Given the description of an element on the screen output the (x, y) to click on. 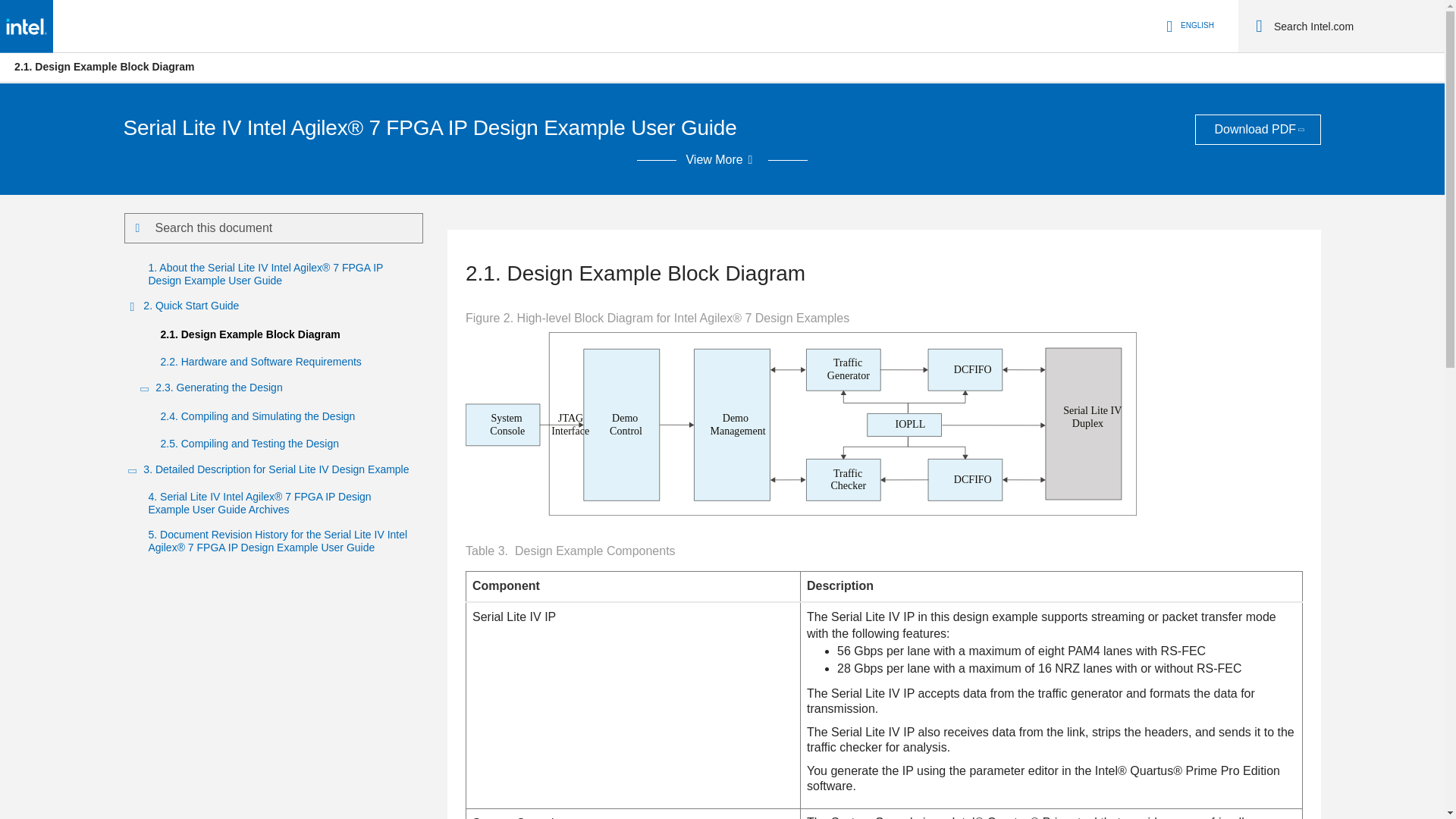
Language Selector (1187, 26)
Search (1259, 26)
ENGLISH (1187, 26)
